Given the description of an element on the screen output the (x, y) to click on. 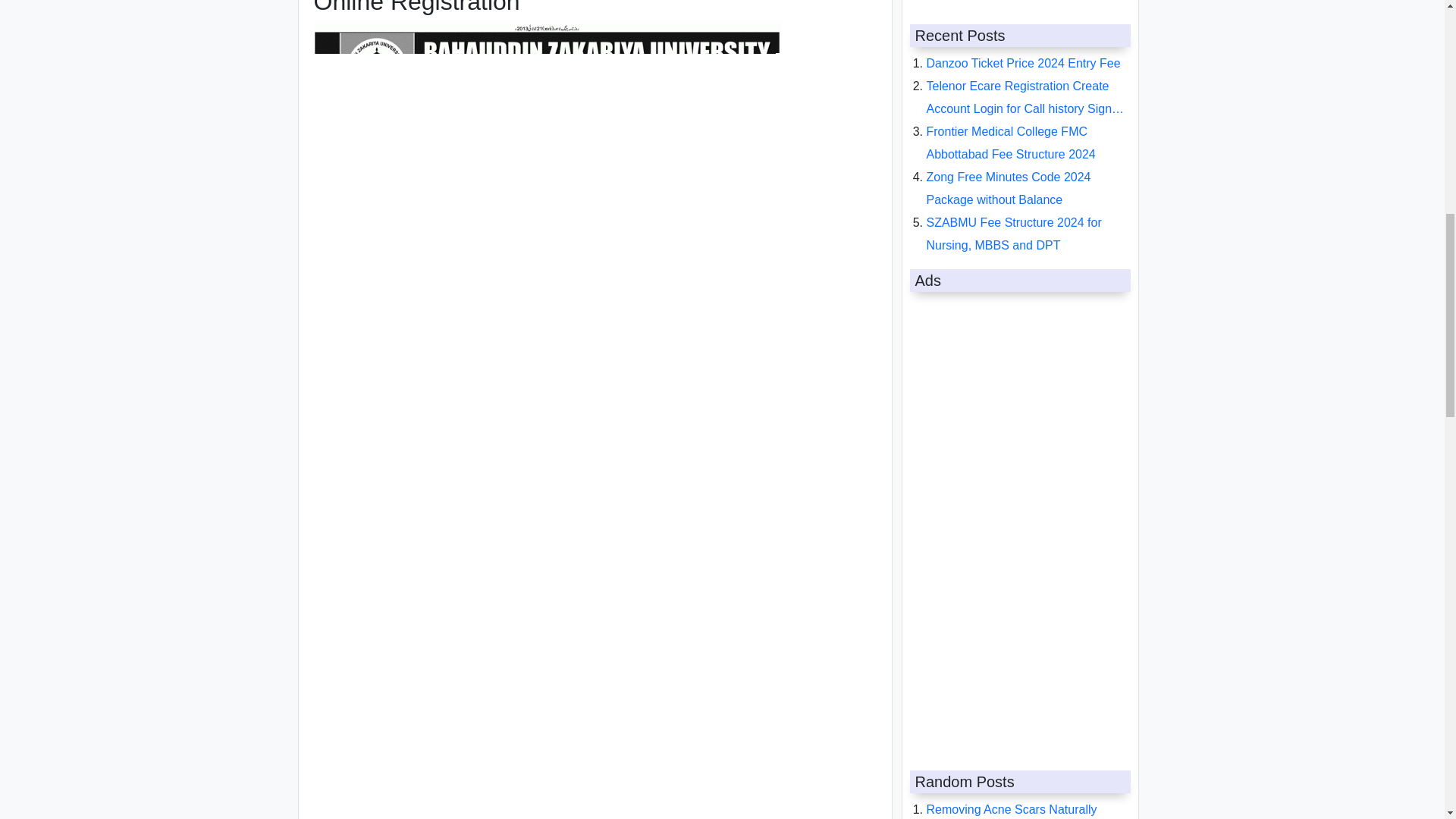
Removing Acne Scars Naturally (1011, 48)
Diamond Supreme Foam Price List 2024 Exchange Offer (1020, 82)
Peshawar Board 5th Class Result 2018 under BISEP (1017, 424)
AJK University Fee Structure 2024 (1019, 298)
Price And Specifications Of Nokia Lumia 510 In Pakistan (1016, 378)
YMDC Yusra Medical and Dental College Merit List 2024 (1014, 219)
Nikah Nama Form 2024 in Pakistan Urdu, English (1022, 333)
